Given the description of an element on the screen output the (x, y) to click on. 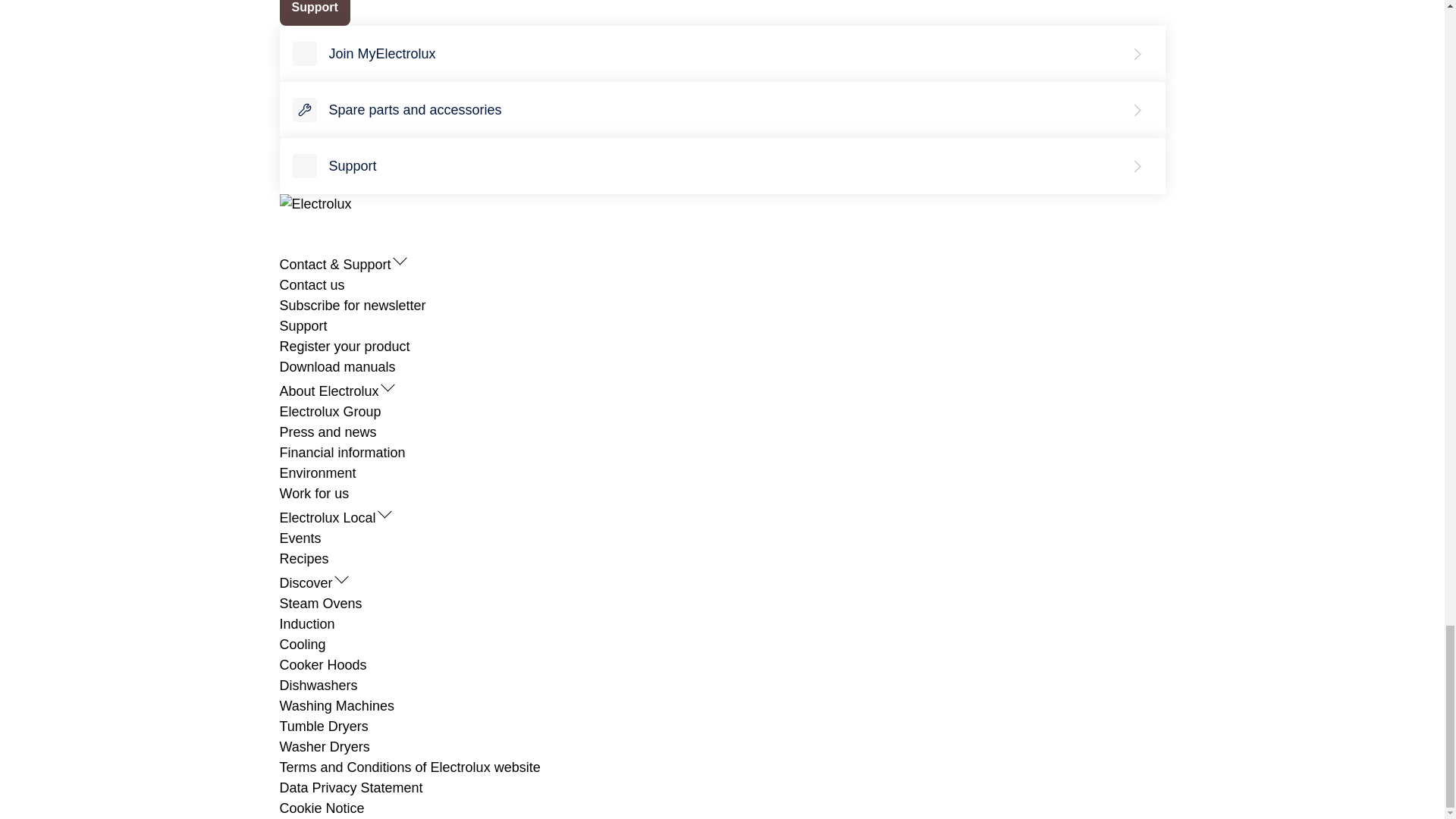
Environment (317, 473)
Support (302, 325)
Financial information (341, 452)
Cooker Hoods (322, 664)
Washing Machines (336, 705)
Induction (306, 623)
Download manuals (336, 366)
Dishwashers (317, 685)
Press and news (327, 432)
Register your product (344, 346)
Subscribe for newsletter (352, 305)
Events (299, 538)
Cooling (301, 644)
Steam Ovens (320, 603)
Electrolux (314, 203)
